Given the description of an element on the screen output the (x, y) to click on. 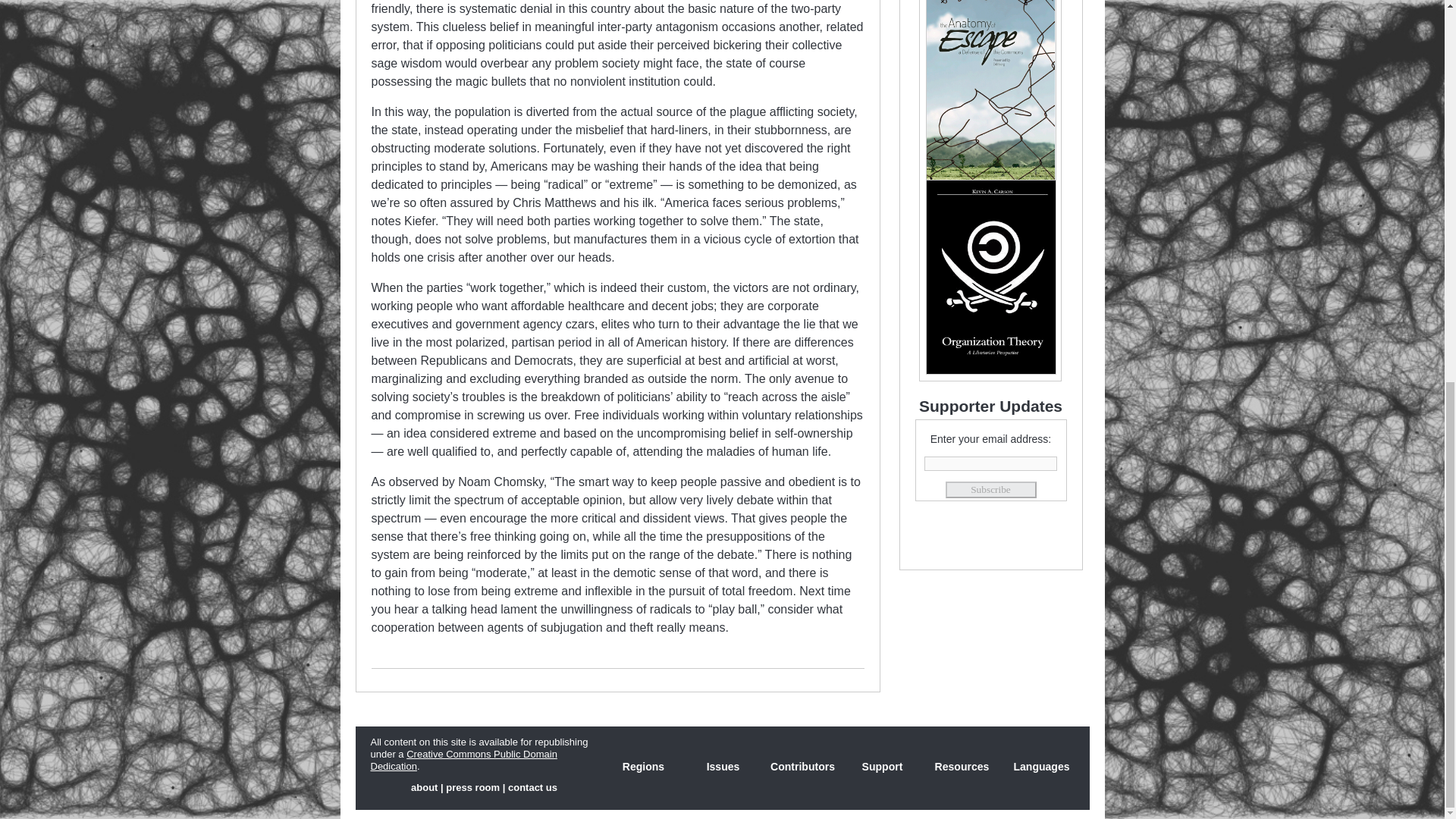
contact us (532, 787)
Creative Commons Public Domain Dedication (462, 760)
Subscribe (989, 489)
Regions (644, 766)
Languages (1041, 766)
Issues (722, 766)
press room (472, 787)
Resources (961, 766)
Subscribe (989, 489)
about (424, 787)
Contributors (802, 766)
Support (881, 766)
